Given the description of an element on the screen output the (x, y) to click on. 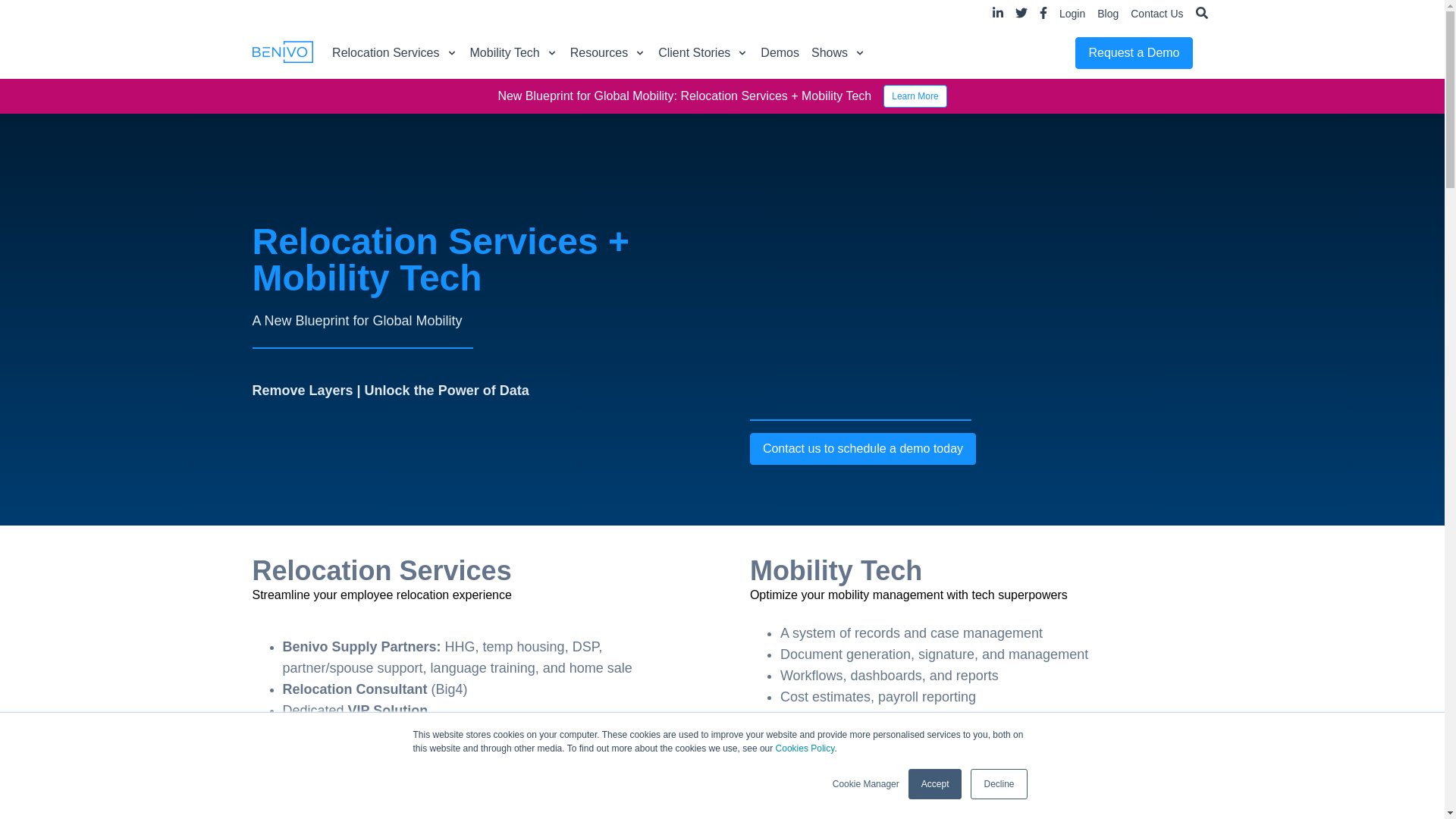
Contact Us (1156, 13)
Blog (1107, 13)
Cookie Manager (865, 784)
Login (1071, 13)
Relocation Services (394, 52)
Resources (608, 52)
Decline (998, 784)
Benivo logo (282, 51)
Mobility Tech (513, 52)
HubSpot Video (971, 290)
Cookies Policy (805, 747)
Request a Demo (1133, 52)
Accept (935, 784)
